Given the description of an element on the screen output the (x, y) to click on. 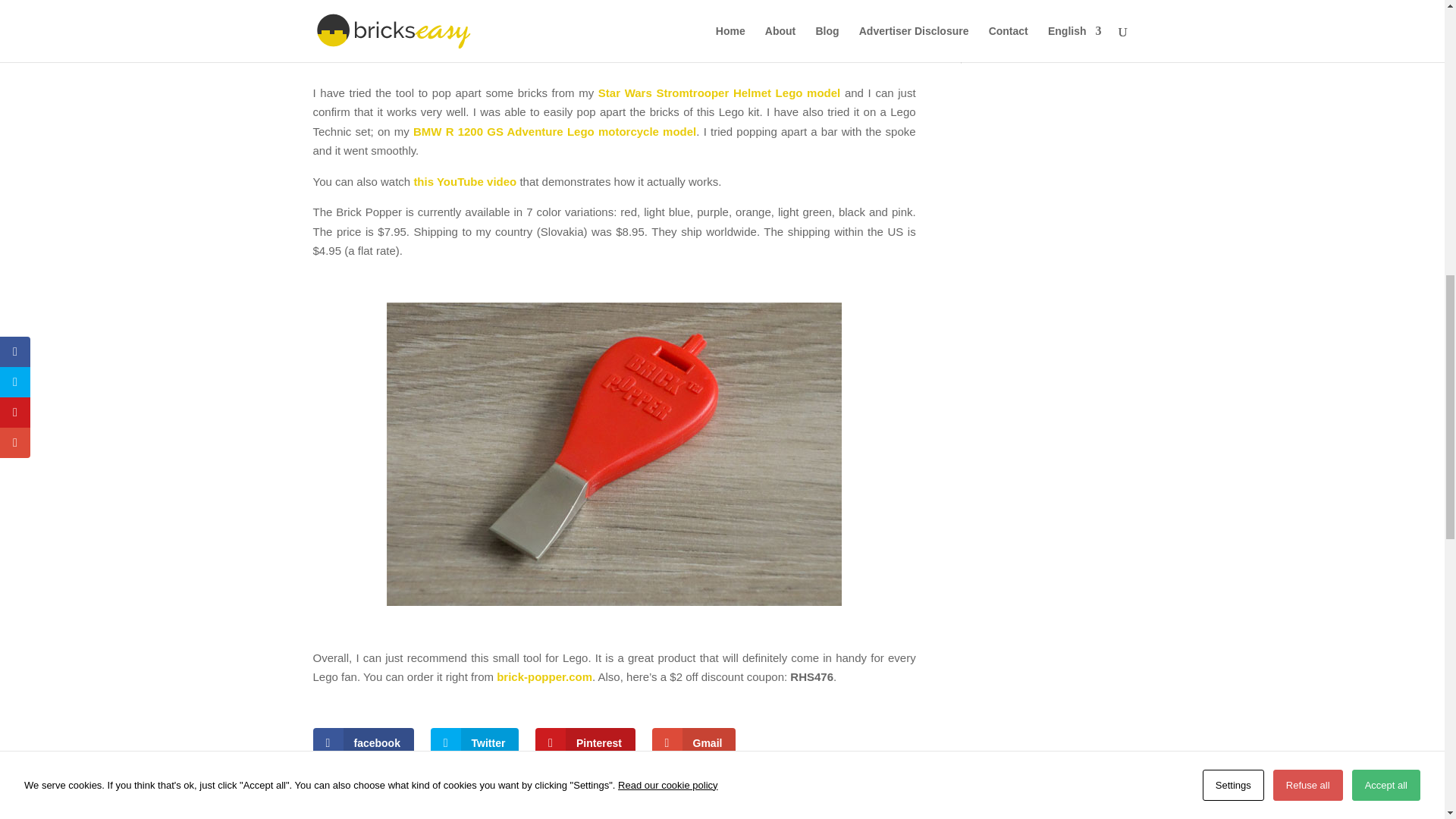
Lego Star Wars (1023, 9)
Twitter (474, 743)
brick-popper.com (544, 676)
facebook (363, 743)
Star Wars Stromtrooper Helmet Lego model (719, 92)
Gmail (694, 743)
this YouTube video (464, 181)
Pinterest (584, 743)
BMW R 1200 GS Adventure Lego motorcycle model (554, 131)
